Given the description of an element on the screen output the (x, y) to click on. 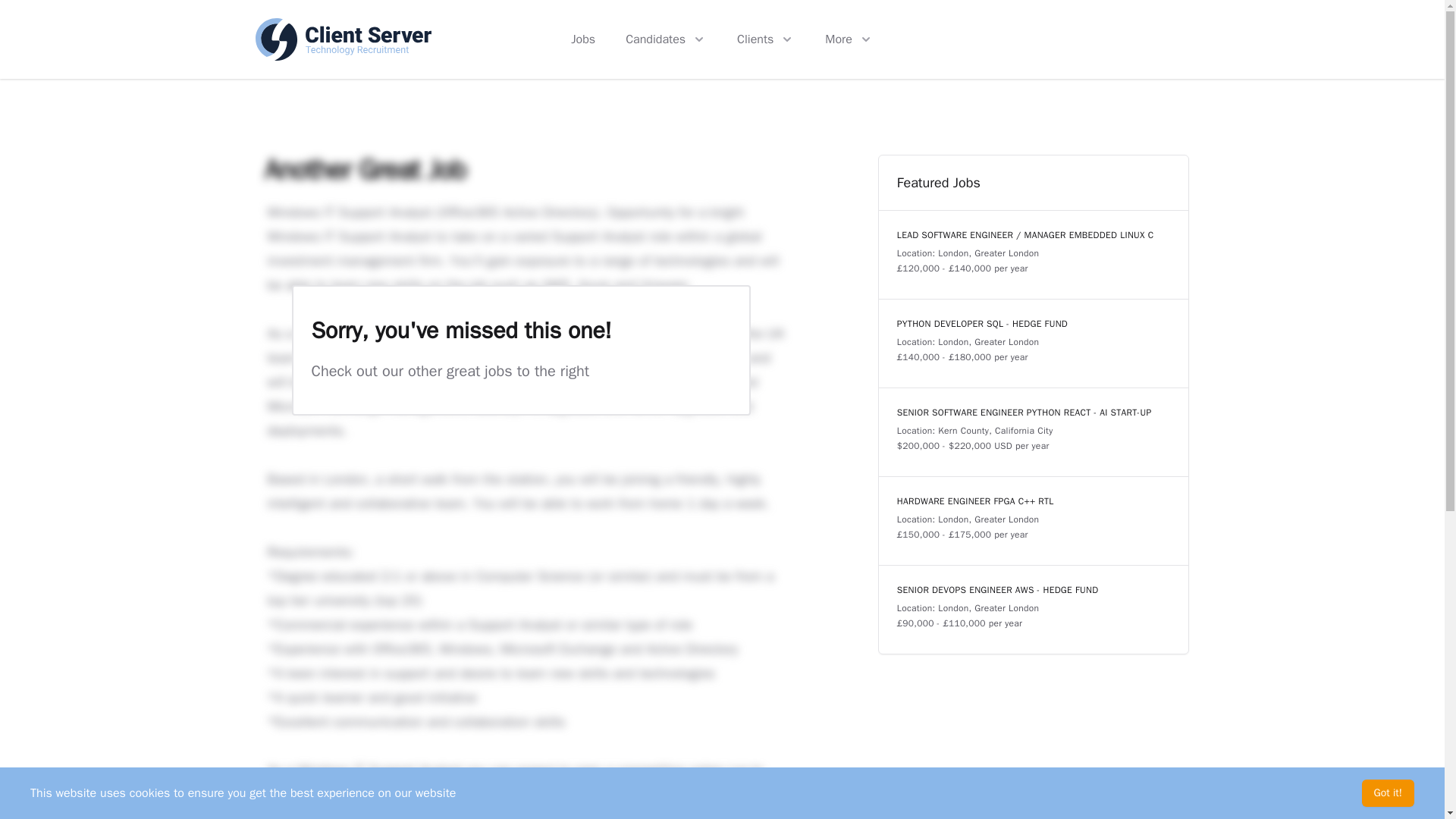
Got it! (1387, 792)
Jobs (582, 39)
Clients (765, 39)
Candidates (666, 39)
More (848, 39)
